Given the description of an element on the screen output the (x, y) to click on. 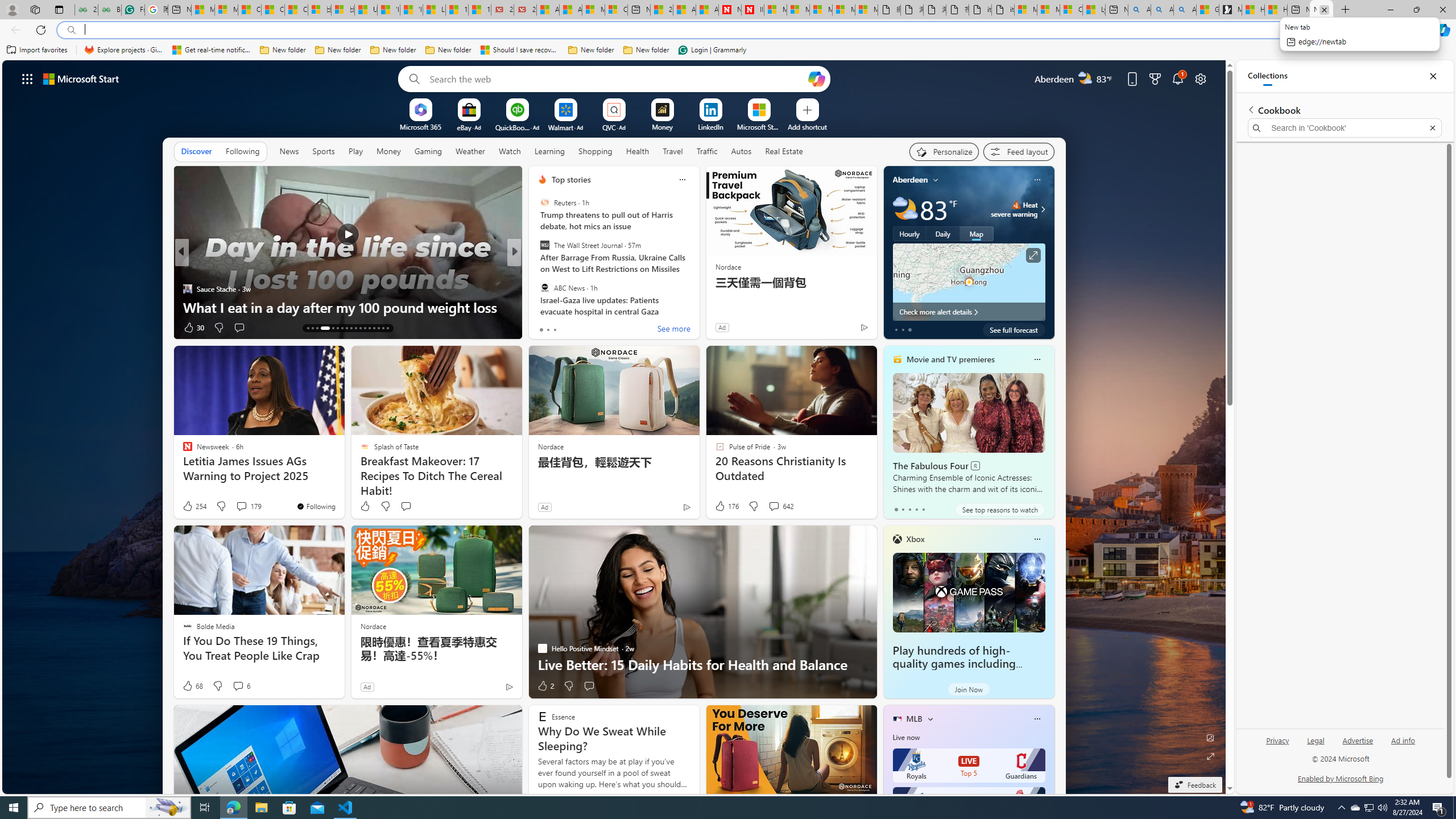
You're following Newsweek (315, 505)
ABC News (544, 287)
Health (637, 151)
View comments 140 Comment (589, 327)
Microsoft Start Gaming (1230, 9)
AutomationID: waffle (27, 78)
Microsoft Services Agreement (797, 9)
Login | Grammarly (712, 49)
AutomationID: tab-24 (364, 328)
Watch (509, 151)
How Many Of These Retro Kitchen Items Do You Still Own? (697, 298)
Money (388, 151)
